Given the description of an element on the screen output the (x, y) to click on. 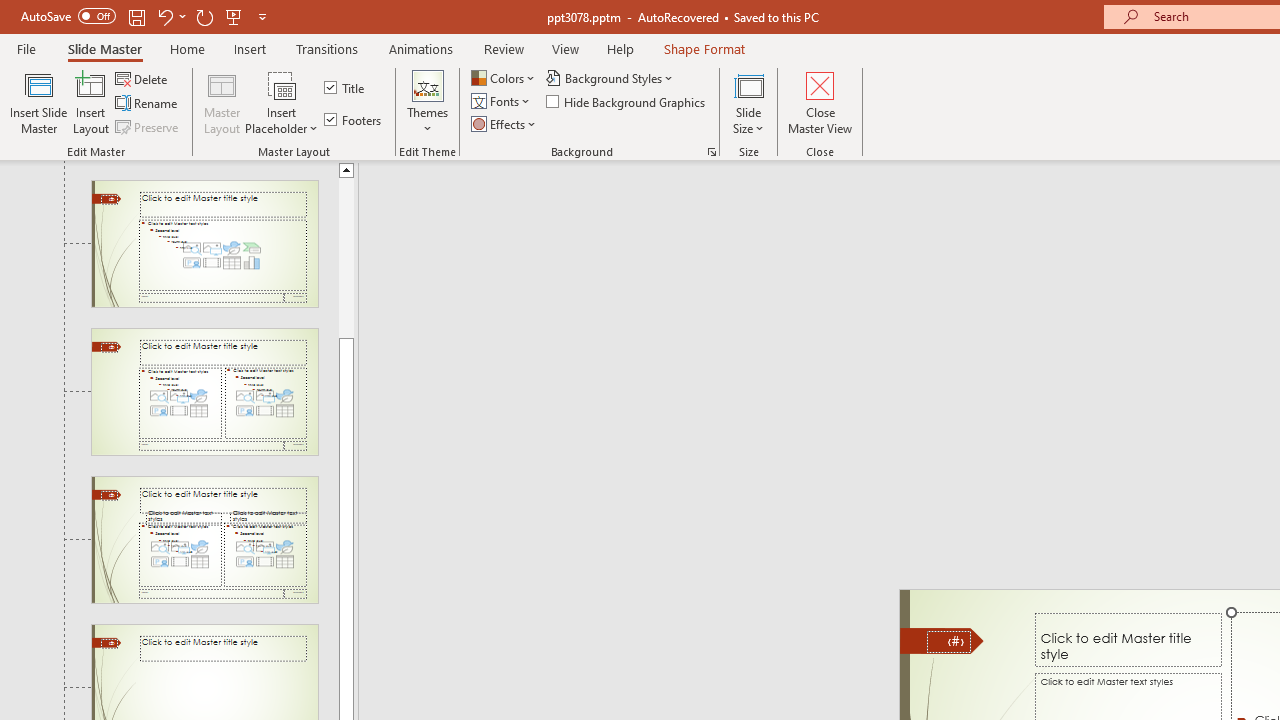
Freeform 11 (941, 640)
Slide Number (948, 641)
